Given the description of an element on the screen output the (x, y) to click on. 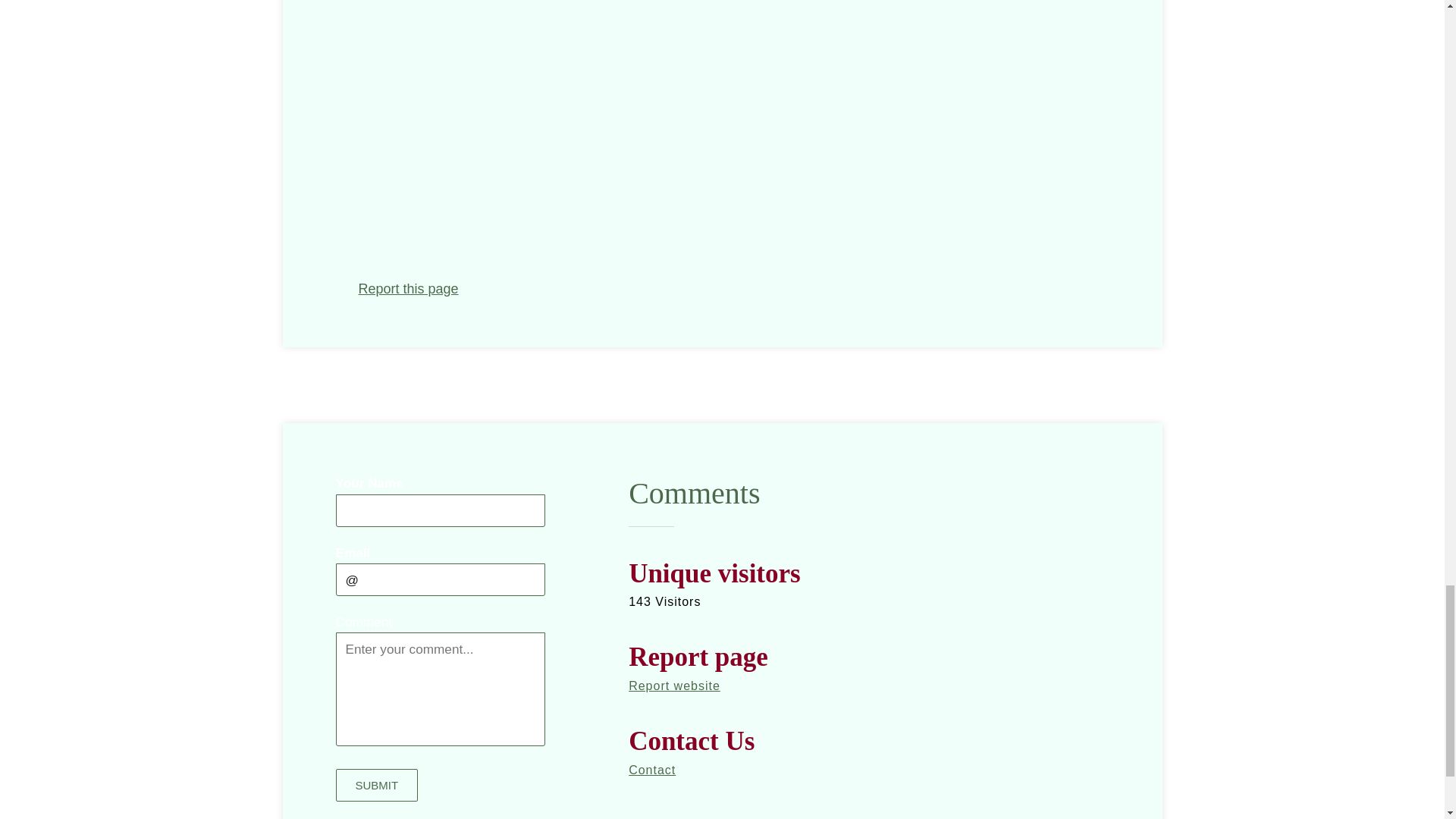
Contact (651, 769)
Report website (674, 685)
Report this page (408, 288)
SUBMIT (375, 785)
